Given the description of an element on the screen output the (x, y) to click on. 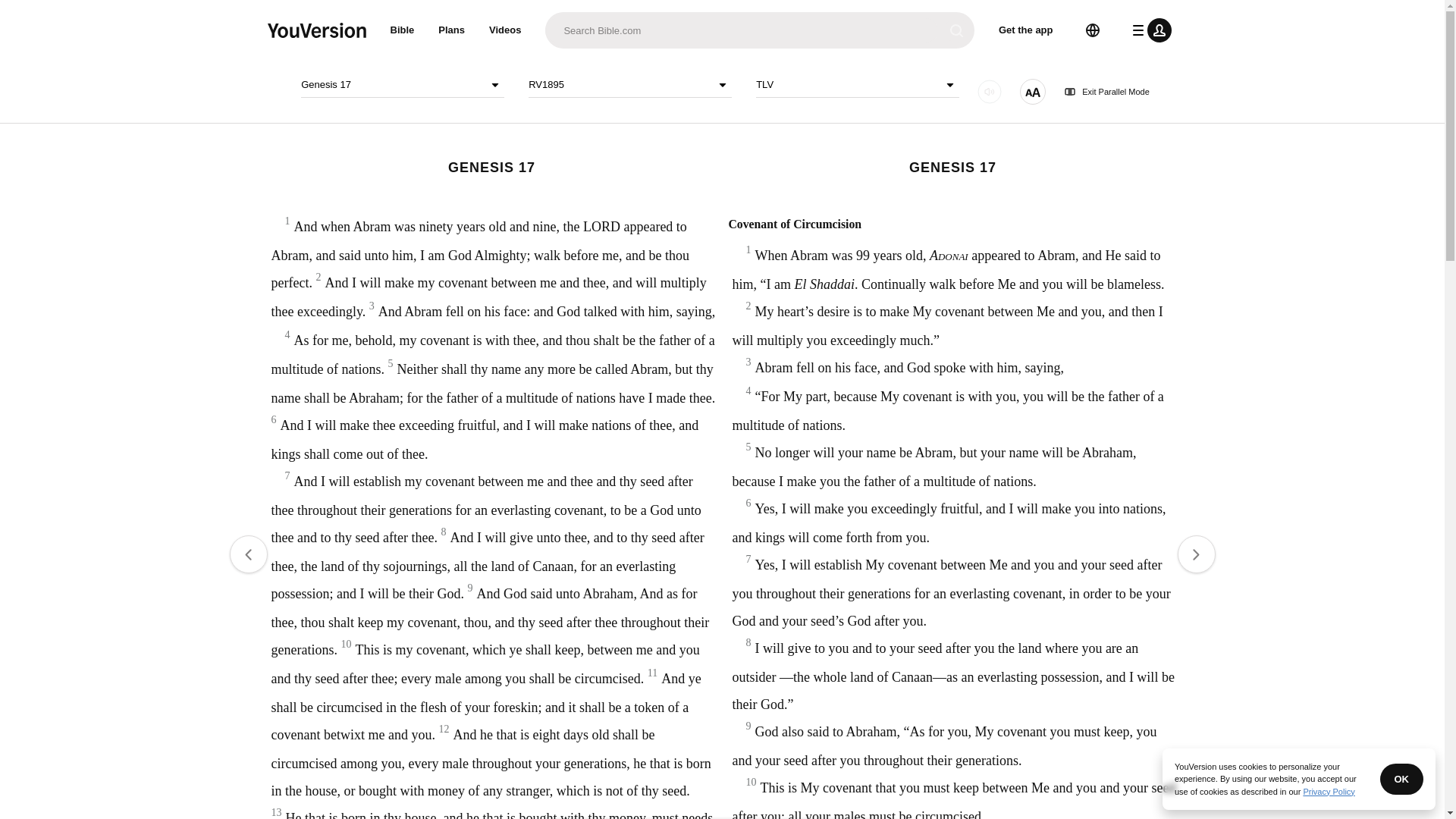
RV1895 (630, 84)
Bible (401, 29)
Genesis 17 (402, 84)
Get the app (1026, 29)
TLV (857, 84)
Plans (451, 29)
Videos (504, 29)
Exit Parallel Mode (1107, 91)
